Given the description of an element on the screen output the (x, y) to click on. 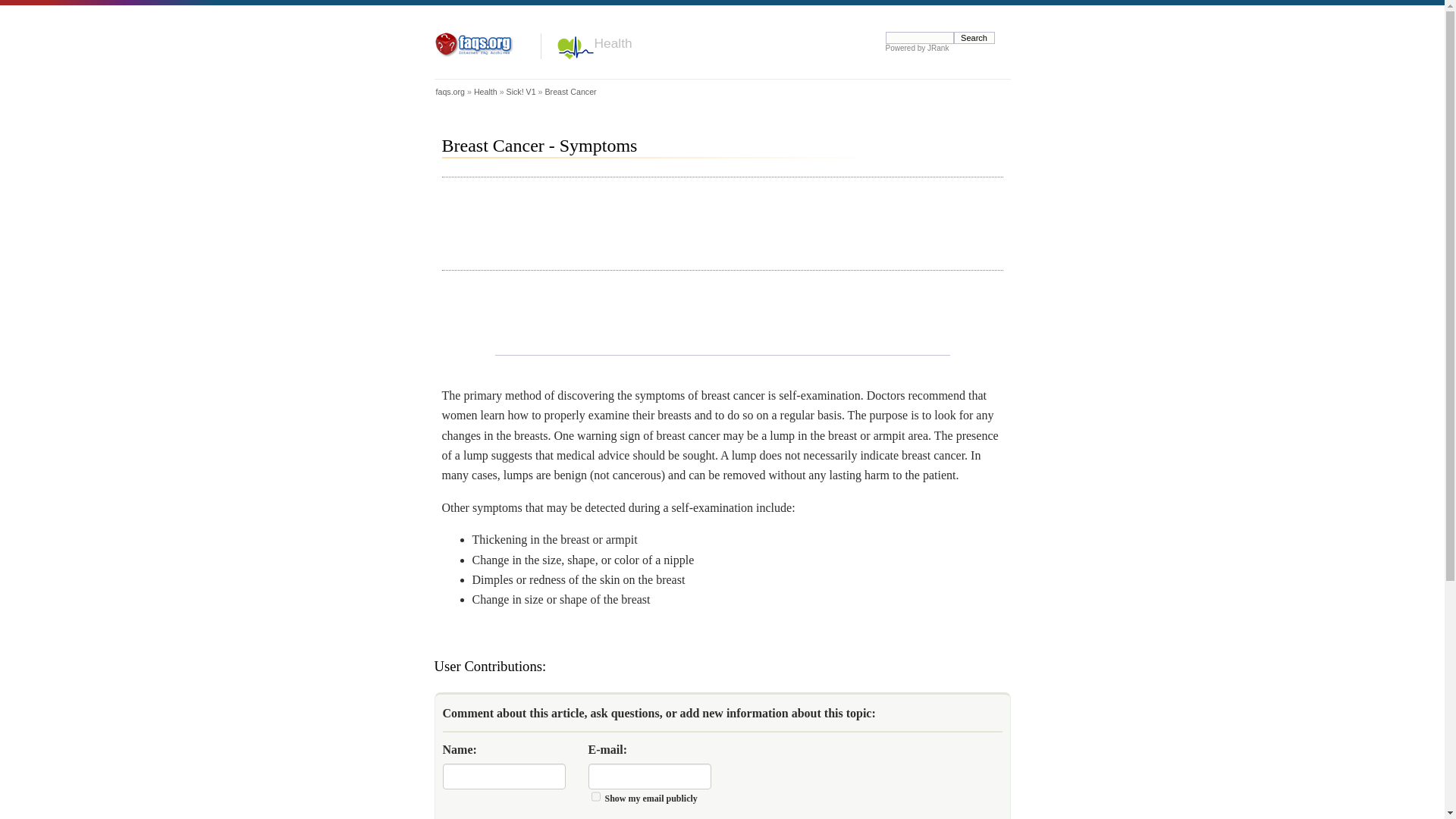
Health (612, 43)
Sick! V1 (520, 91)
Health (485, 91)
faqs.org (449, 91)
Search (973, 37)
1 (595, 796)
Breast Cancer (569, 91)
Search (973, 37)
